Given the description of an element on the screen output the (x, y) to click on. 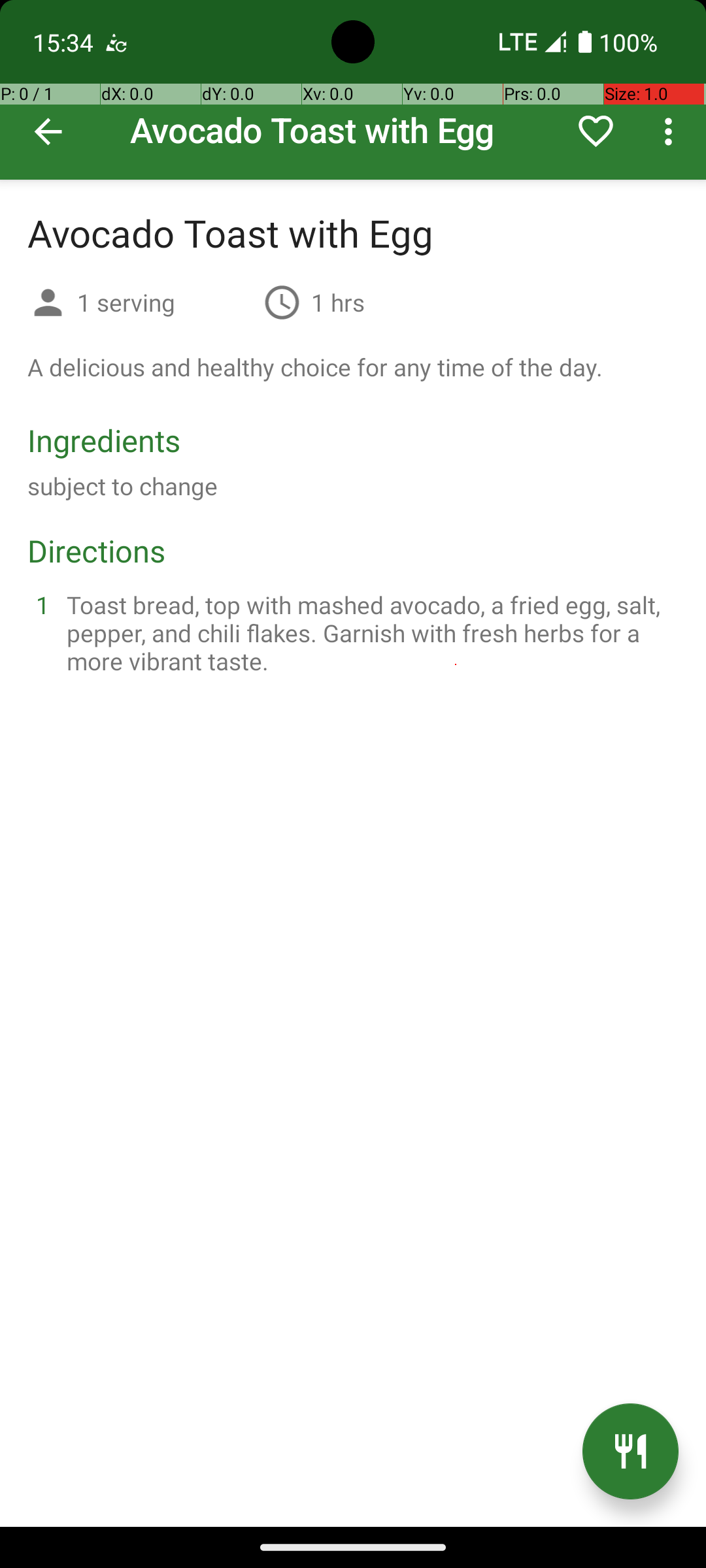
Toast bread, top with mashed avocado, a fried egg, salt, pepper, and chili flakes. Garnish with fresh herbs for a more vibrant taste. Element type: android.widget.TextView (368, 632)
